Given the description of an element on the screen output the (x, y) to click on. 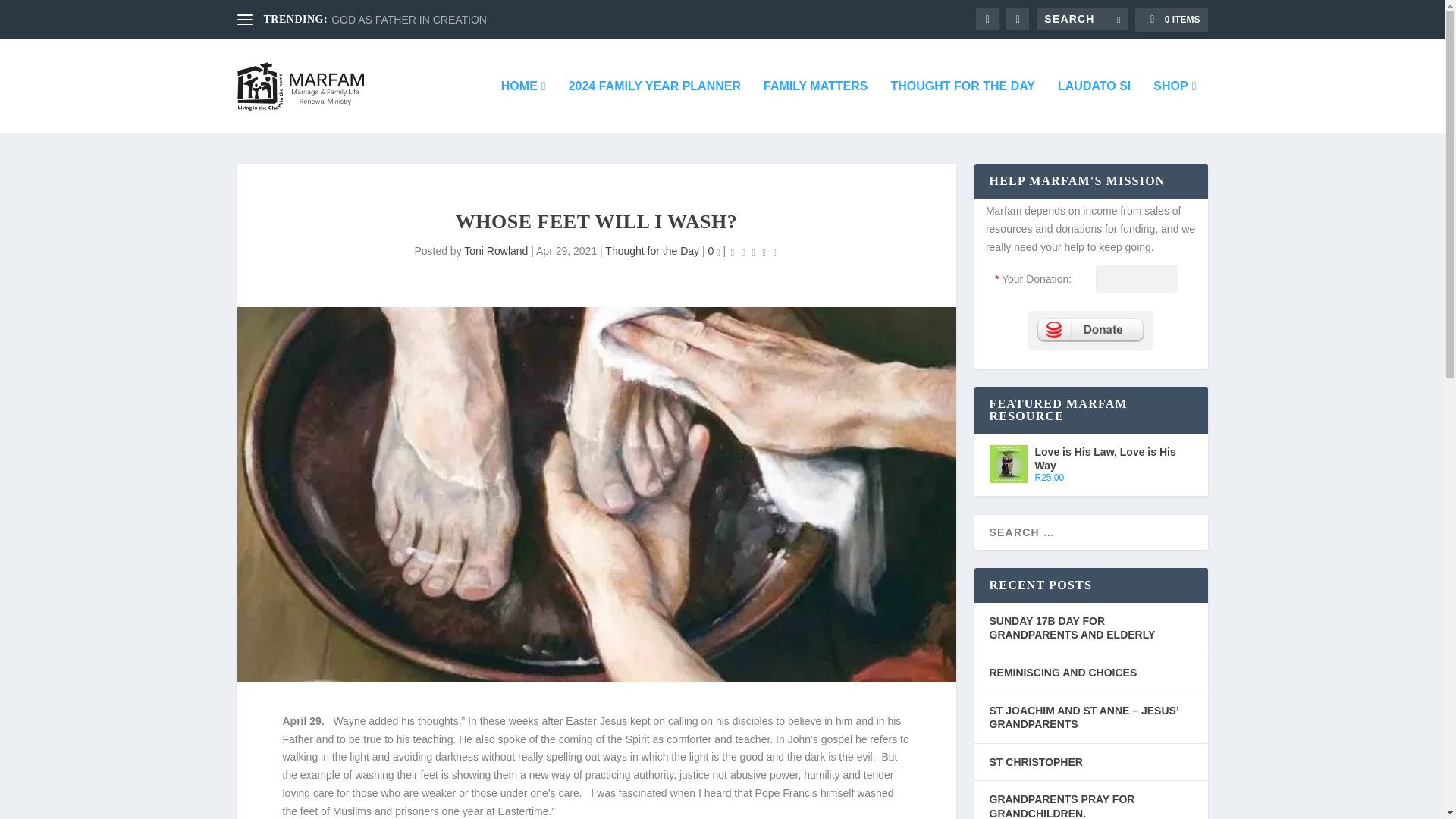
0 ITEMS (1171, 19)
0 (713, 250)
2024 FAMILY YEAR PLANNER (655, 106)
Thought for the Day (651, 250)
THOUGHT FOR THE DAY (962, 106)
FAMILY MATTERS (814, 106)
LAUDATO SI (1094, 106)
Rating: 0.00 (753, 251)
0 Items in Cart (1171, 19)
Posts by Toni Rowland (495, 250)
Search for: (1081, 18)
Toni Rowland (495, 250)
GOD AS FATHER IN CREATION (408, 19)
